Given the description of an element on the screen output the (x, y) to click on. 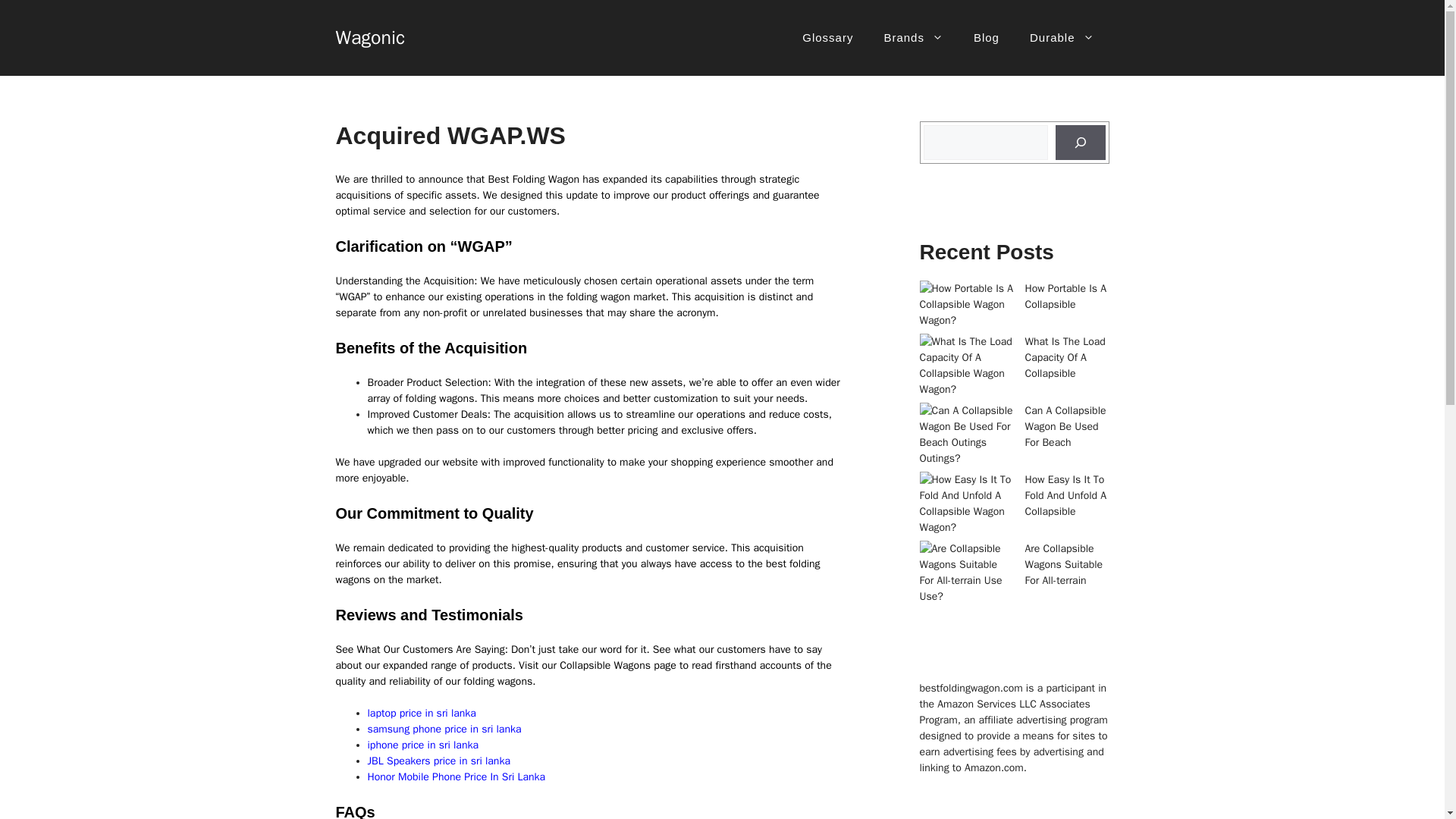
JBL Speakers price in sri lanka (437, 760)
laptop price in sri lanka (421, 712)
Brands (912, 37)
Honor Mobile Phone Price In Sri Lanka (455, 776)
How Easy Is It To Fold And Unfold A Collapsible Wagon? (1012, 503)
Blog (986, 37)
How Portable Is A Collapsible Wagon? (1012, 303)
laptop price in sri lanka (421, 712)
Durable (1061, 37)
samsung phone price in sri lanka (443, 728)
